Given the description of an element on the screen output the (x, y) to click on. 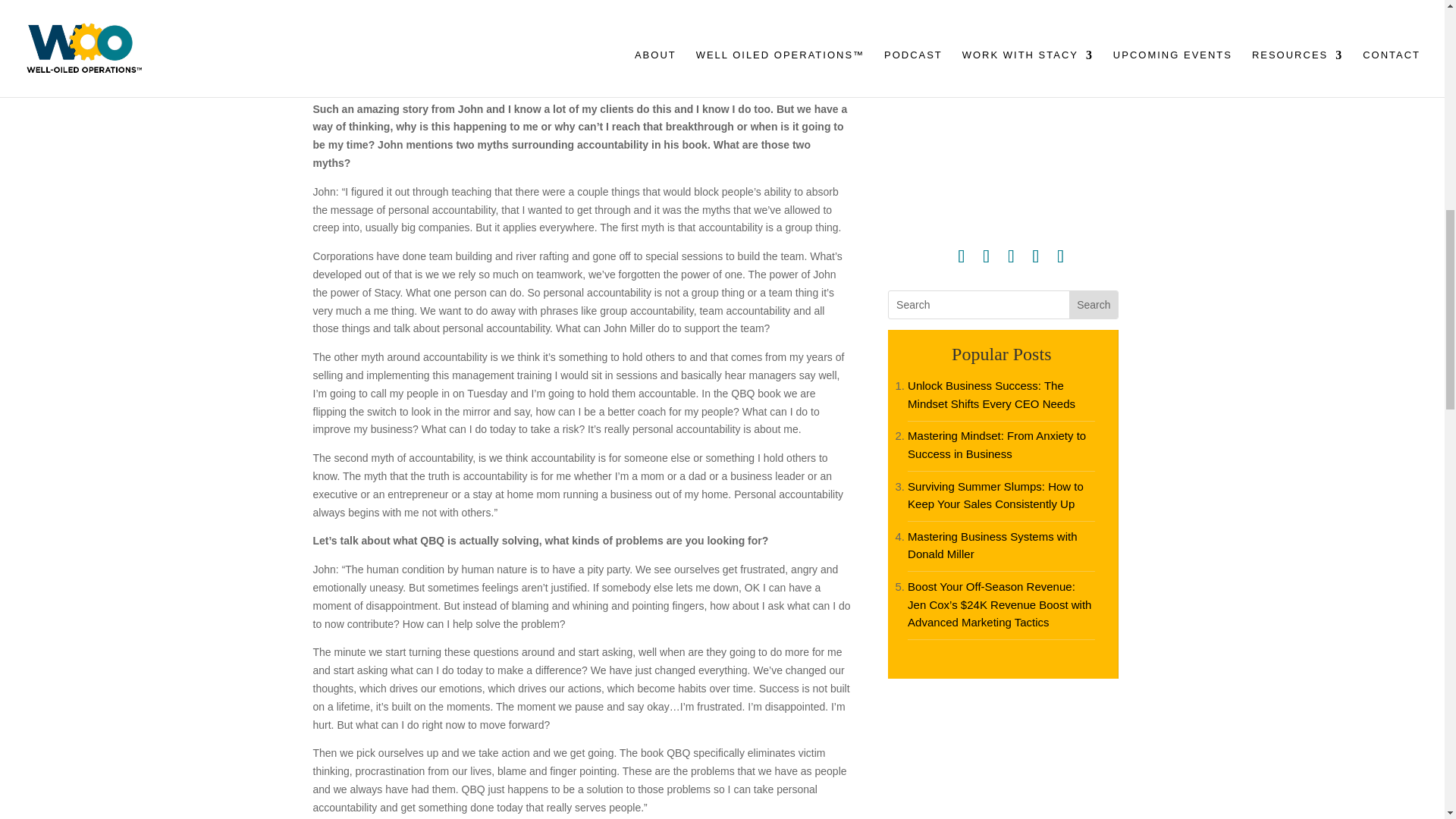
Mastering Business Systems with Donald Miller (992, 545)
Unlock Business Success: The Mindset Shifts Every CEO Needs (991, 394)
Search (1093, 304)
Mastering Mindset: From Anxiety to Success in Business (996, 444)
Search (1093, 304)
Search (1093, 304)
